Given the description of an element on the screen output the (x, y) to click on. 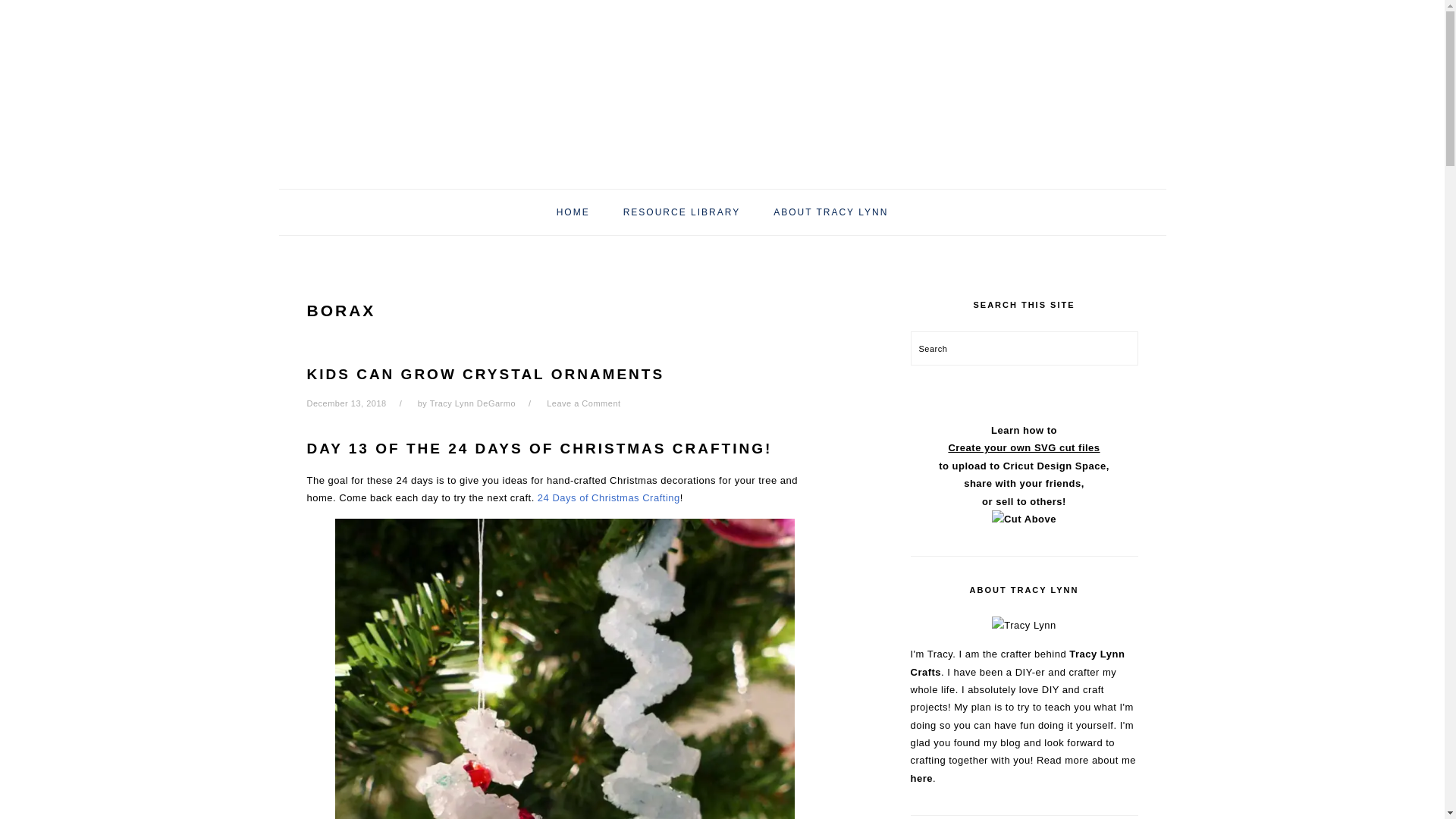
here (920, 778)
ABOUT TRACY LYNN (830, 212)
KIDS CAN GROW CRYSTAL ORNAMENTS (484, 374)
HOME (572, 212)
RESOURCE LIBRARY (681, 212)
24 Days of Christmas Crafting (608, 497)
Leave a Comment (583, 402)
